Given the description of an element on the screen output the (x, y) to click on. 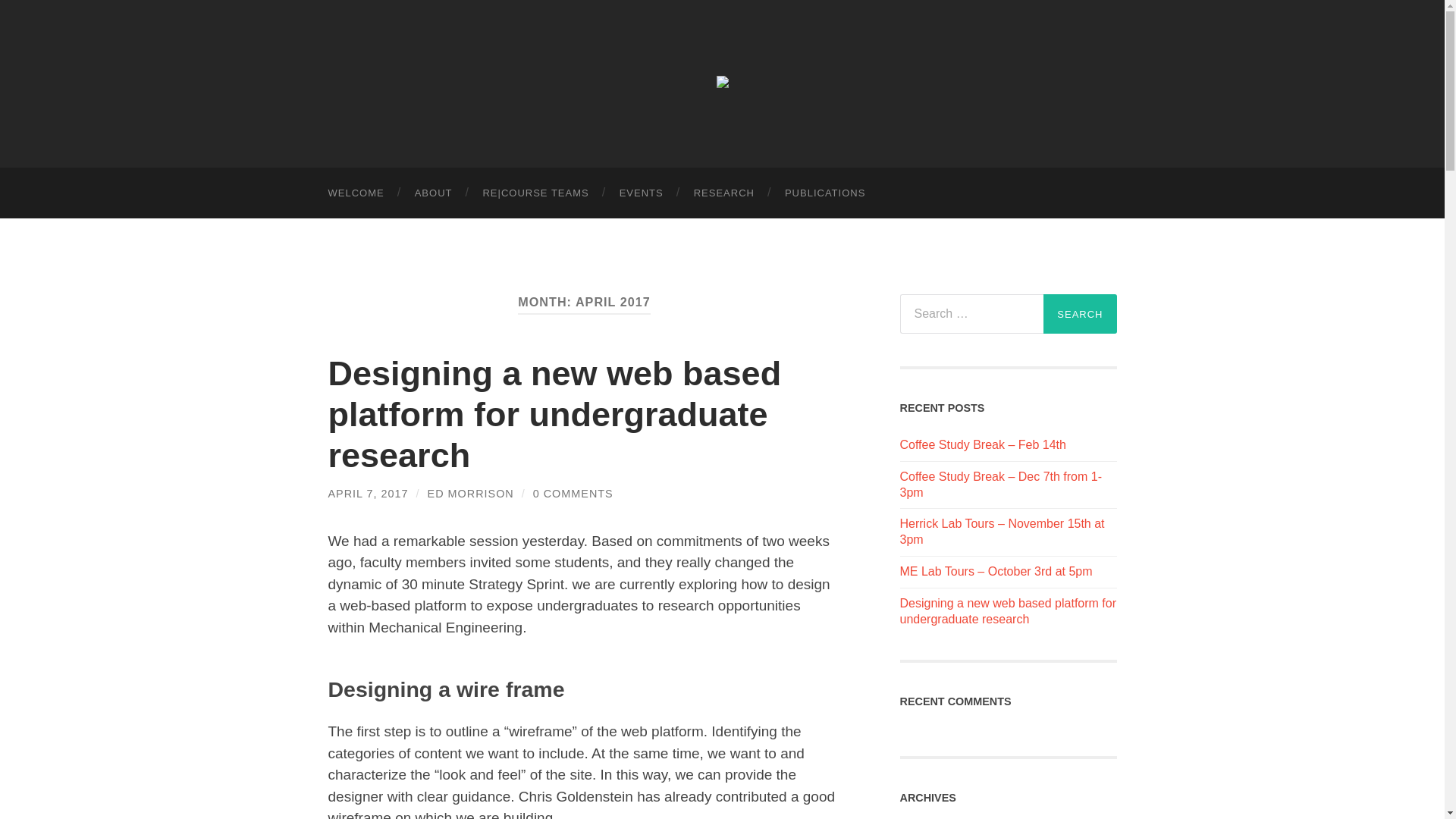
ED MORRISON (470, 493)
APRIL 7, 2017 (367, 493)
Search (1079, 313)
Search (1079, 313)
ABOUT (432, 192)
WELCOME (355, 192)
RESEARCH (724, 192)
0 COMMENTS (572, 493)
PUBLICATIONS (825, 192)
Search (1079, 313)
Posts by Ed Morrison (470, 493)
EVENTS (641, 192)
